Given the description of an element on the screen output the (x, y) to click on. 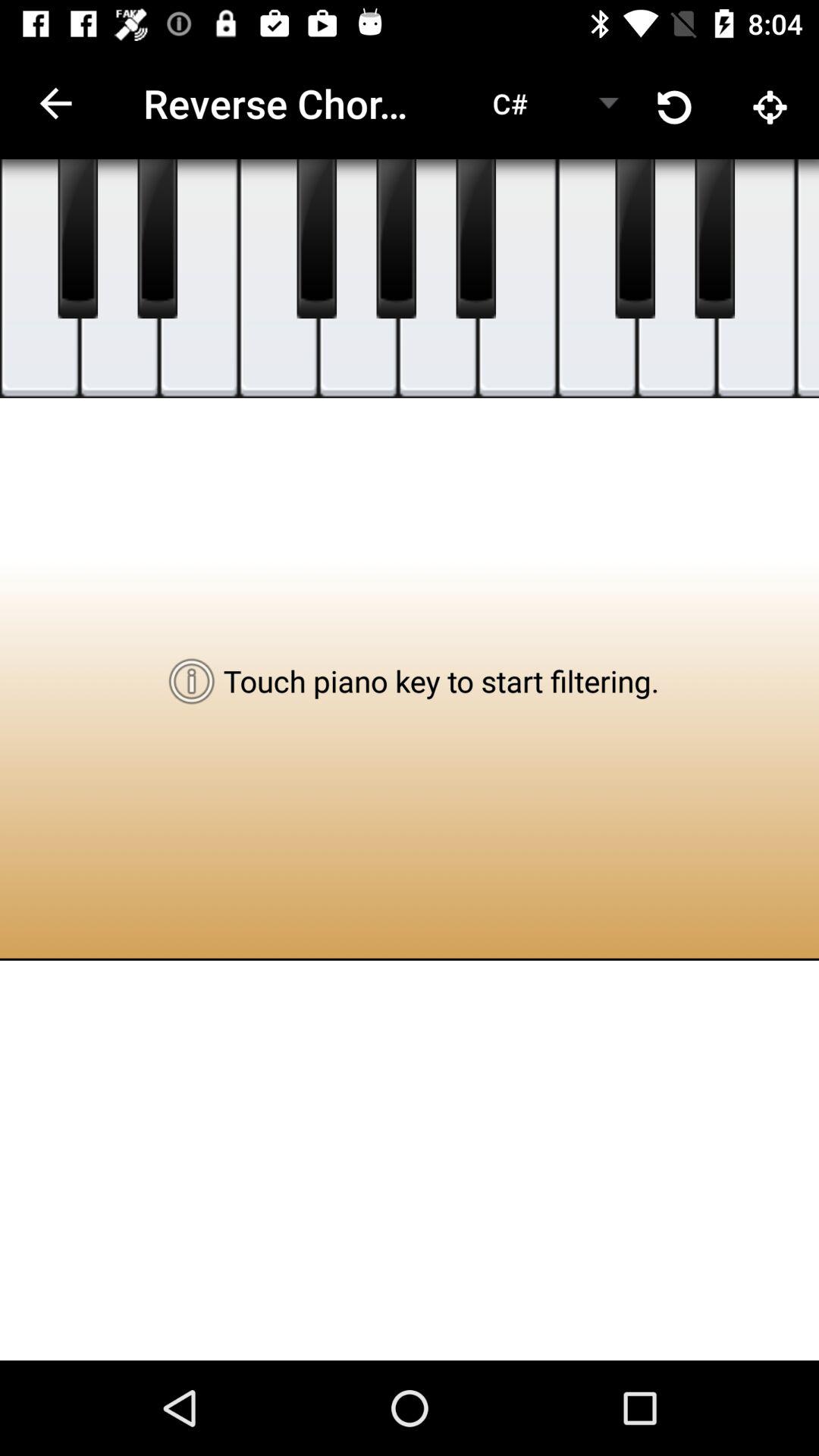
launch icon below the c# (475, 238)
